Given the description of an element on the screen output the (x, y) to click on. 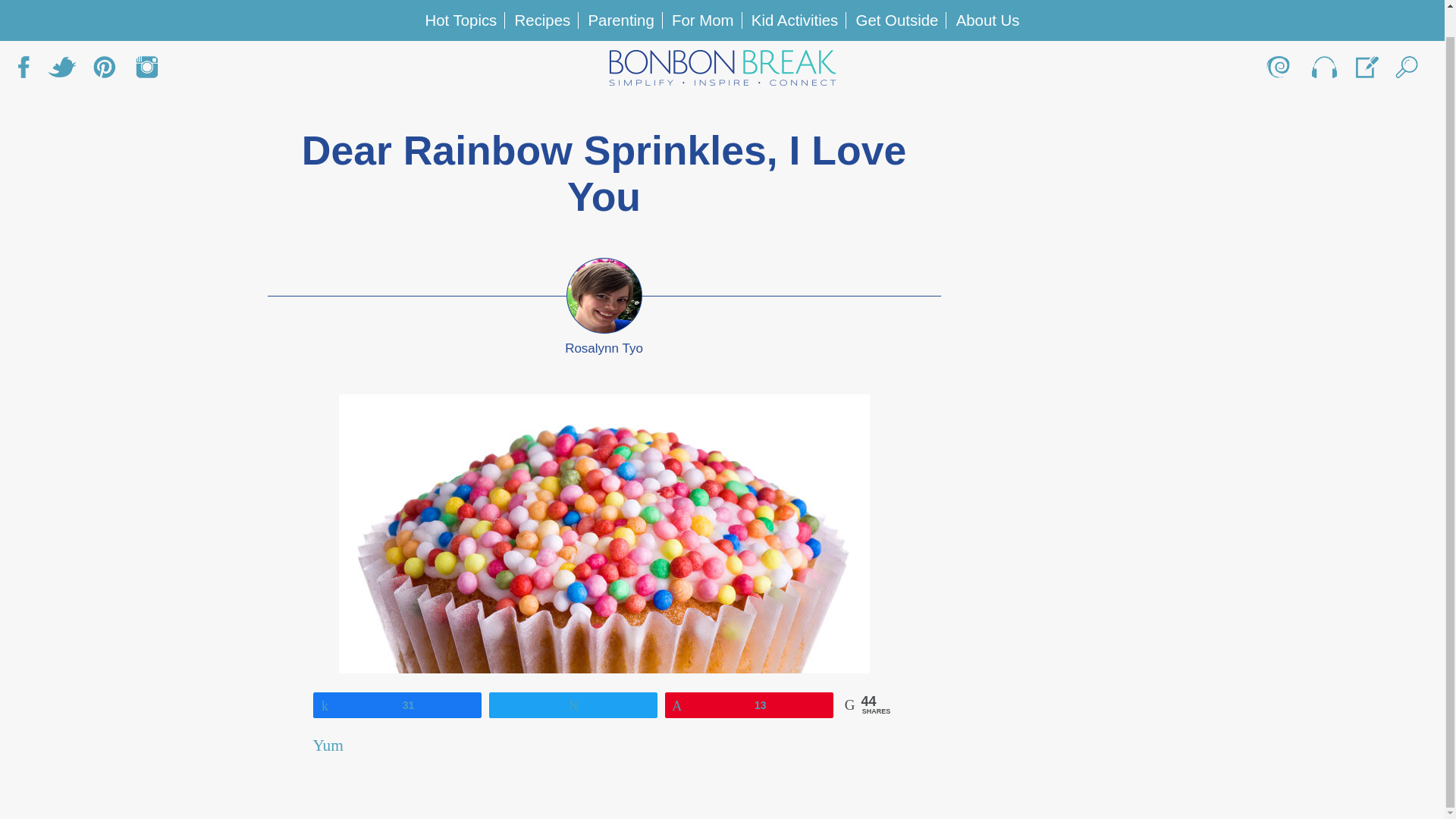
BonBon Submit (1365, 43)
Kid Activities (794, 0)
Yum (327, 745)
Pinteret (103, 43)
About Us (1280, 43)
Instagram (146, 43)
Get Outside (897, 0)
BonBon Live (1322, 43)
Recipes (542, 0)
13 (748, 703)
